Given the description of an element on the screen output the (x, y) to click on. 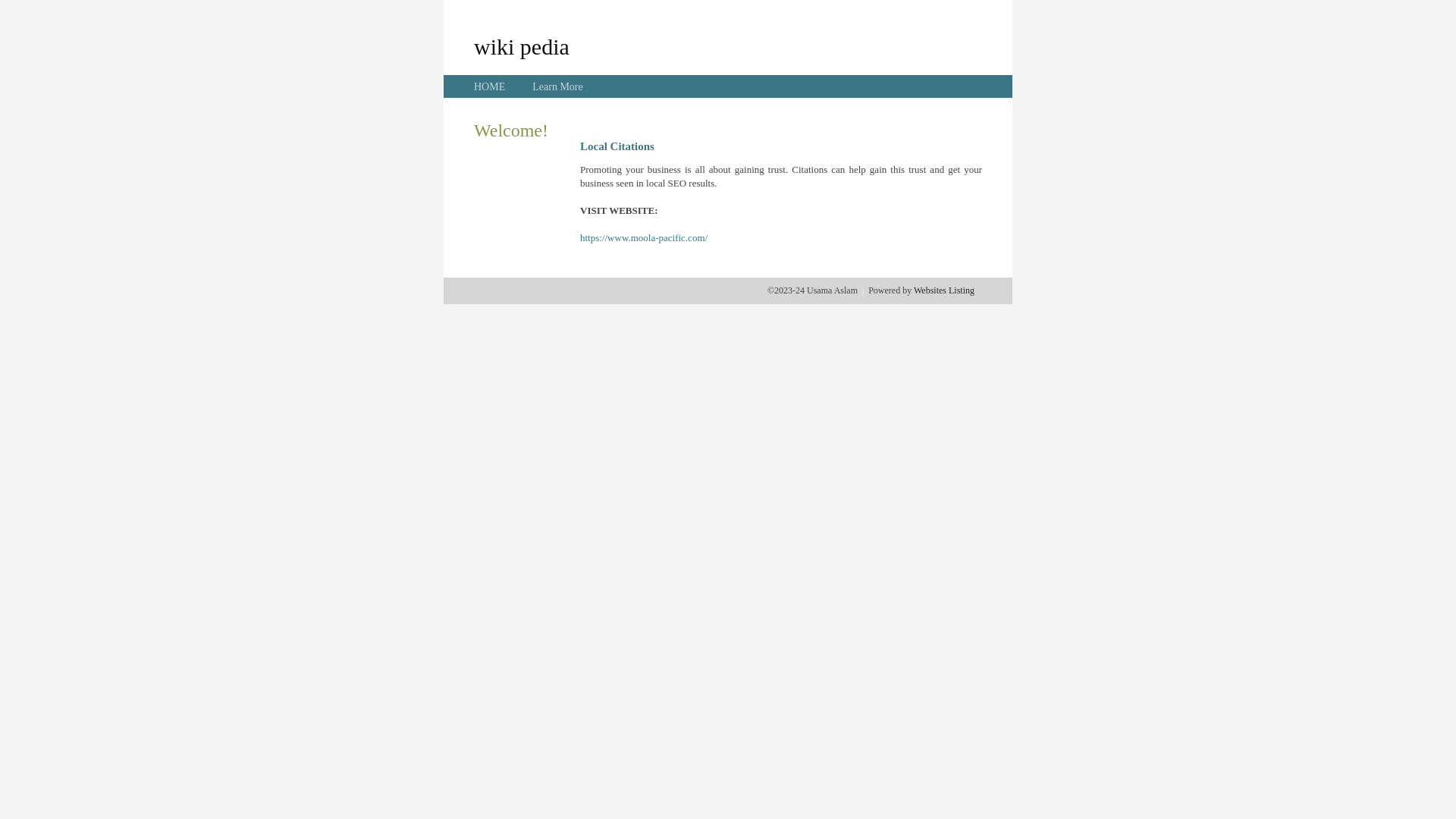
Websites Listing Element type: text (943, 290)
https://www.moola-pacific.com/ Element type: text (643, 237)
Learn More Element type: text (557, 86)
wiki pedia Element type: text (521, 46)
HOME Element type: text (489, 86)
